Given the description of an element on the screen output the (x, y) to click on. 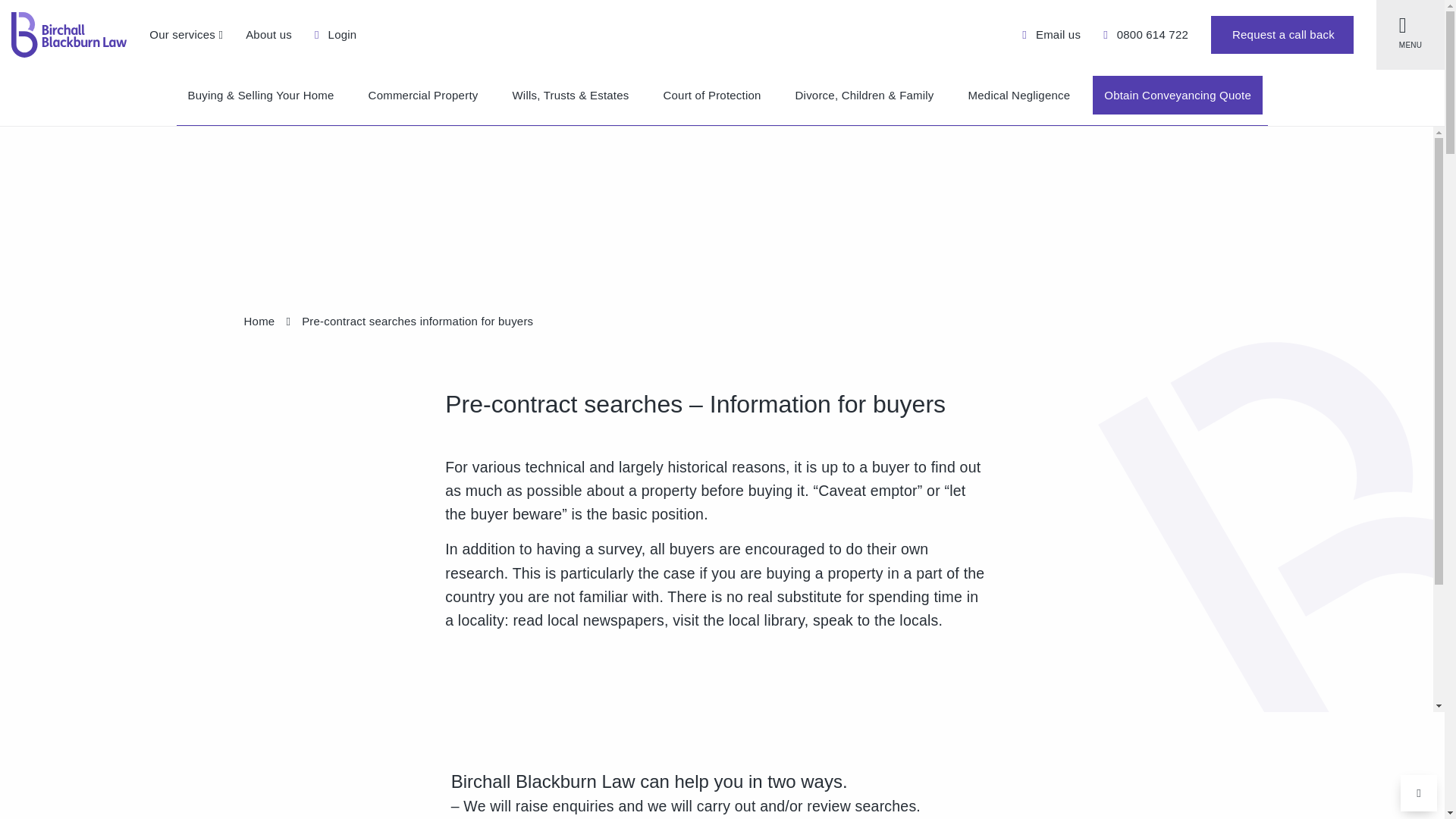
Login (335, 33)
Our services (185, 33)
Commercial Property (422, 95)
0800 614 722 (1145, 33)
About us (269, 33)
Court of Protection (712, 95)
Email us (1051, 33)
